Given the description of an element on the screen output the (x, y) to click on. 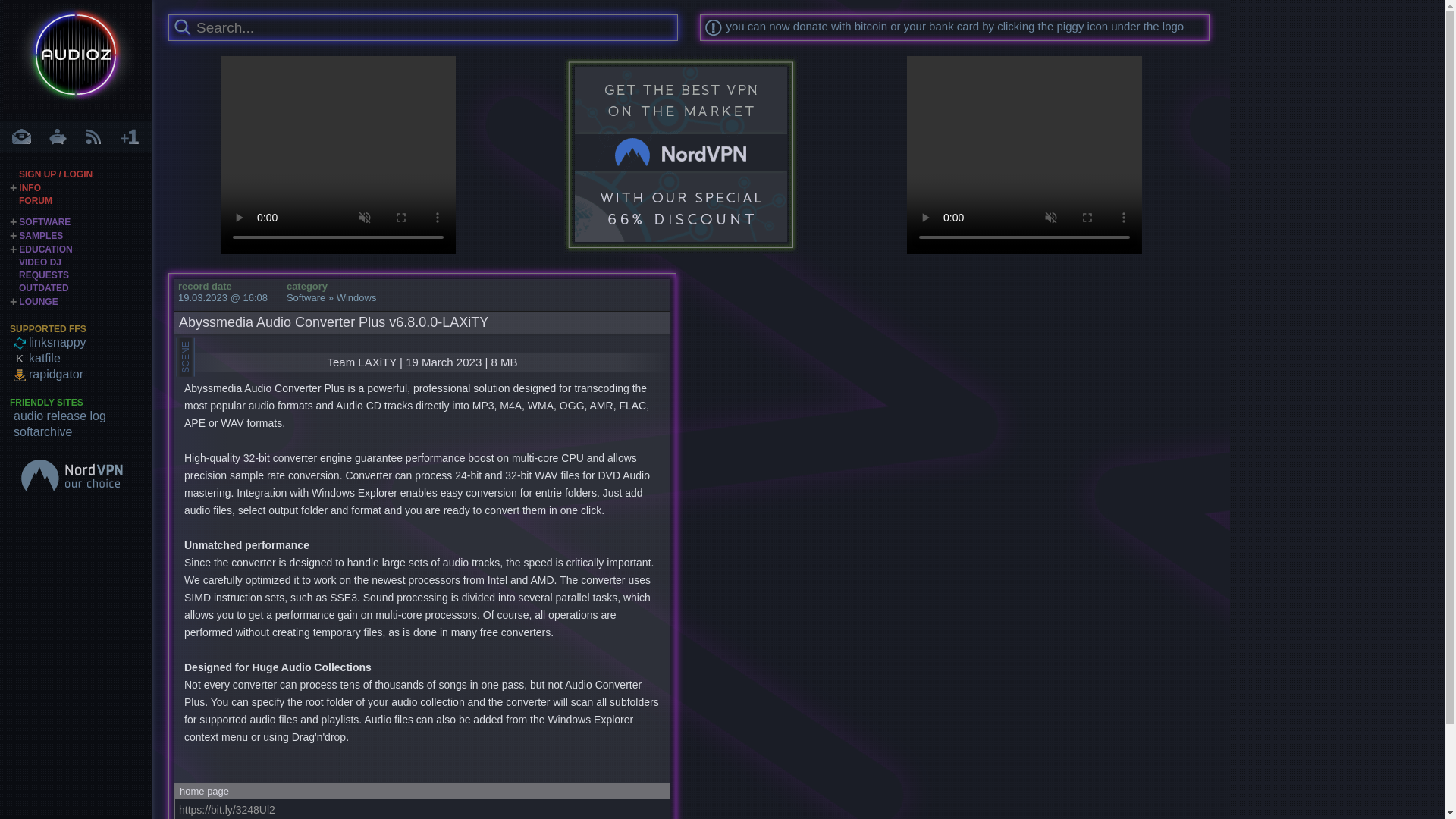
Multimedia, VJ Software (39, 262)
Press if you ready to handle the consequences... (182, 27)
United Pro Audio Web Groups Offical Release Log (82, 415)
FORUM (35, 200)
Samples and Software Released Before 2008 (43, 287)
Get RG Premium! Everybody should have one. (82, 374)
Read my post about this insane offer (680, 154)
A U D i O F R E E D O M (75, 59)
